Given the description of an element on the screen output the (x, y) to click on. 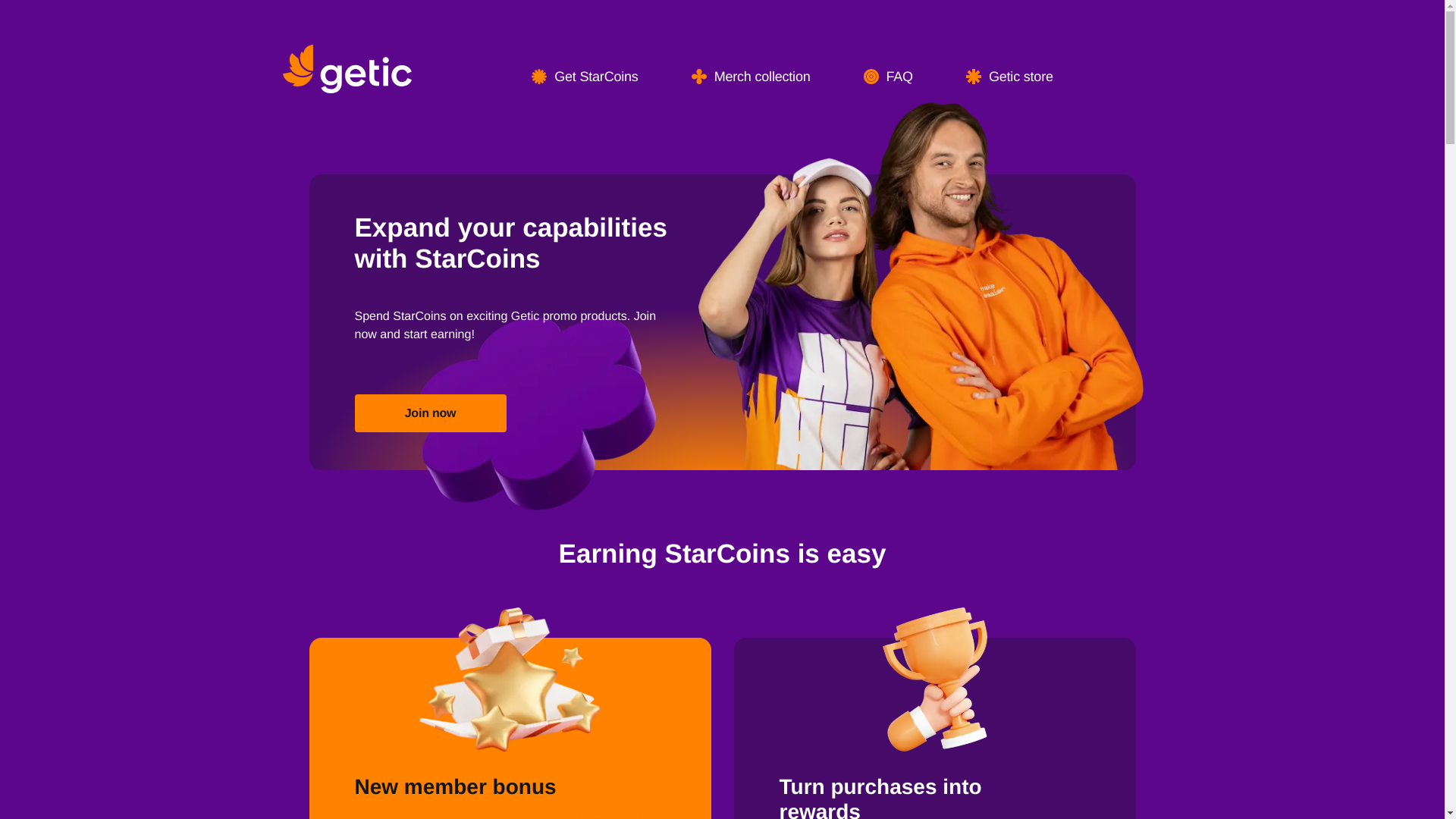
Getic store (1009, 60)
Join now (430, 426)
Merch collection (750, 59)
Get StarCoins (584, 57)
FAQ (887, 59)
